Given the description of an element on the screen output the (x, y) to click on. 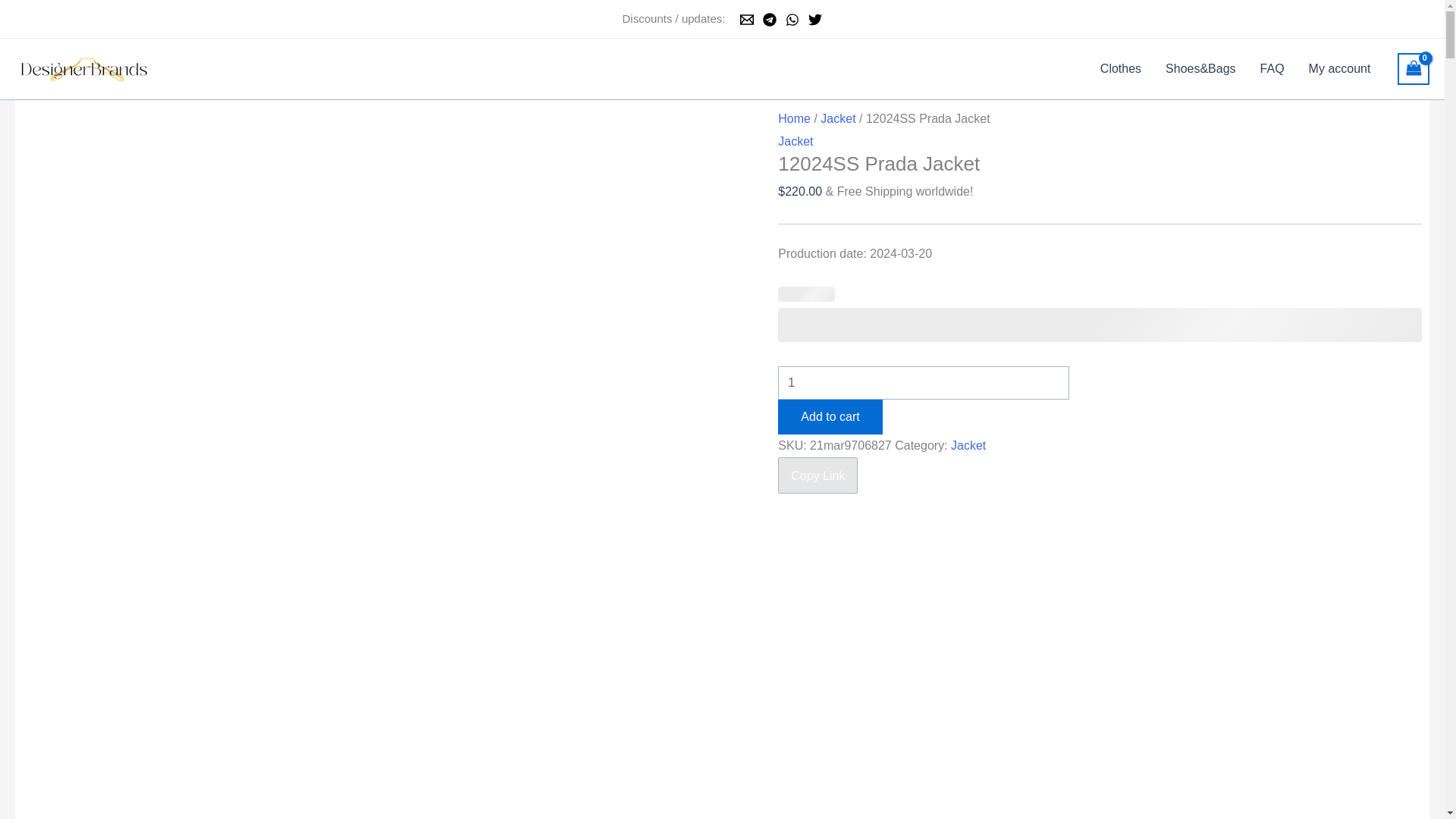
My account (1340, 68)
Jacket (838, 118)
Clothes (1120, 68)
1 (922, 382)
Home (793, 118)
Jacket (794, 141)
